Given the description of an element on the screen output the (x, y) to click on. 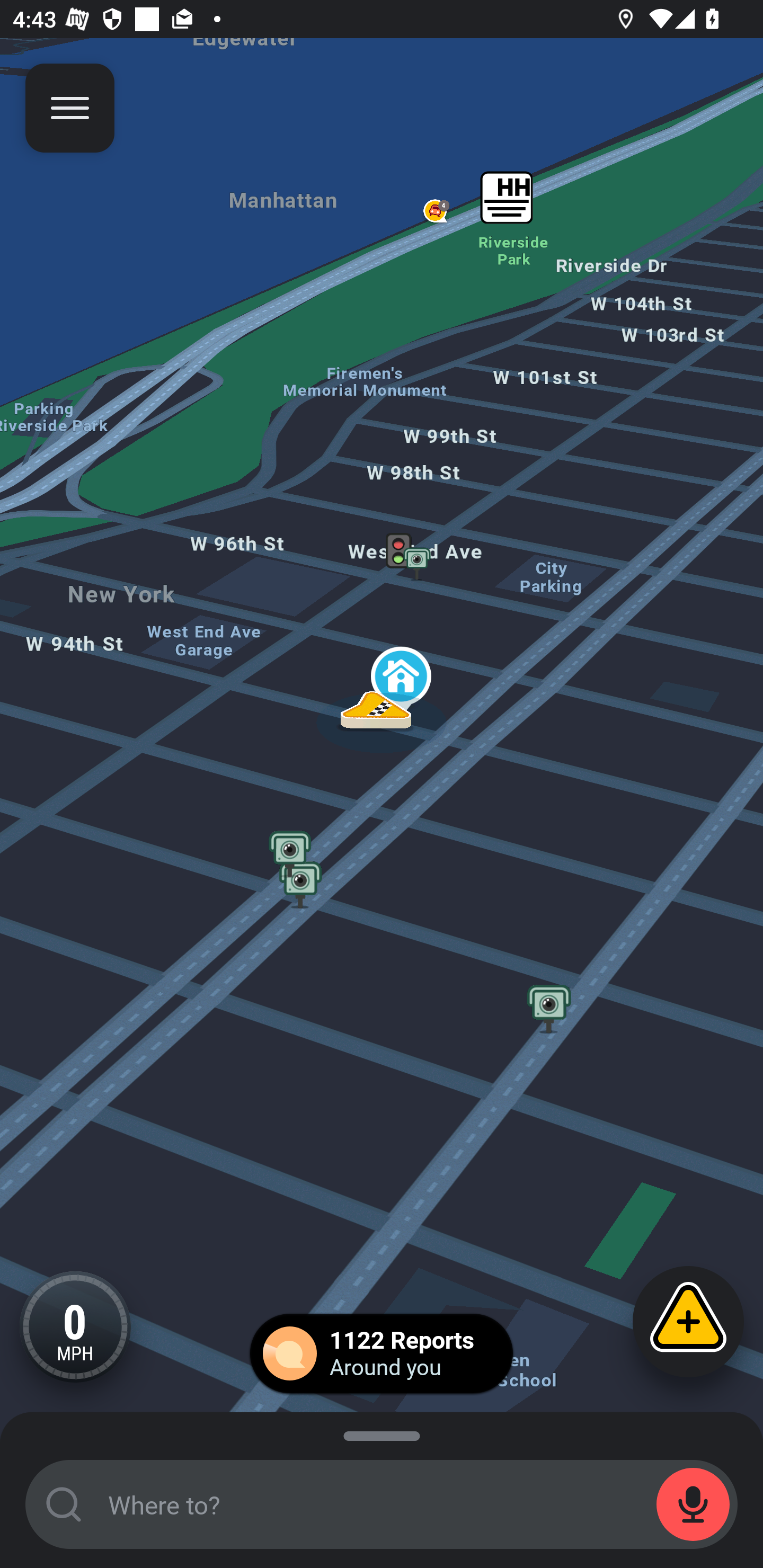
SUGGESTIONS_SHEET_DRAG_HANDLE (381, 1432)
START_STATE_SEARCH_FIELD Where to? (381, 1504)
